Given the description of an element on the screen output the (x, y) to click on. 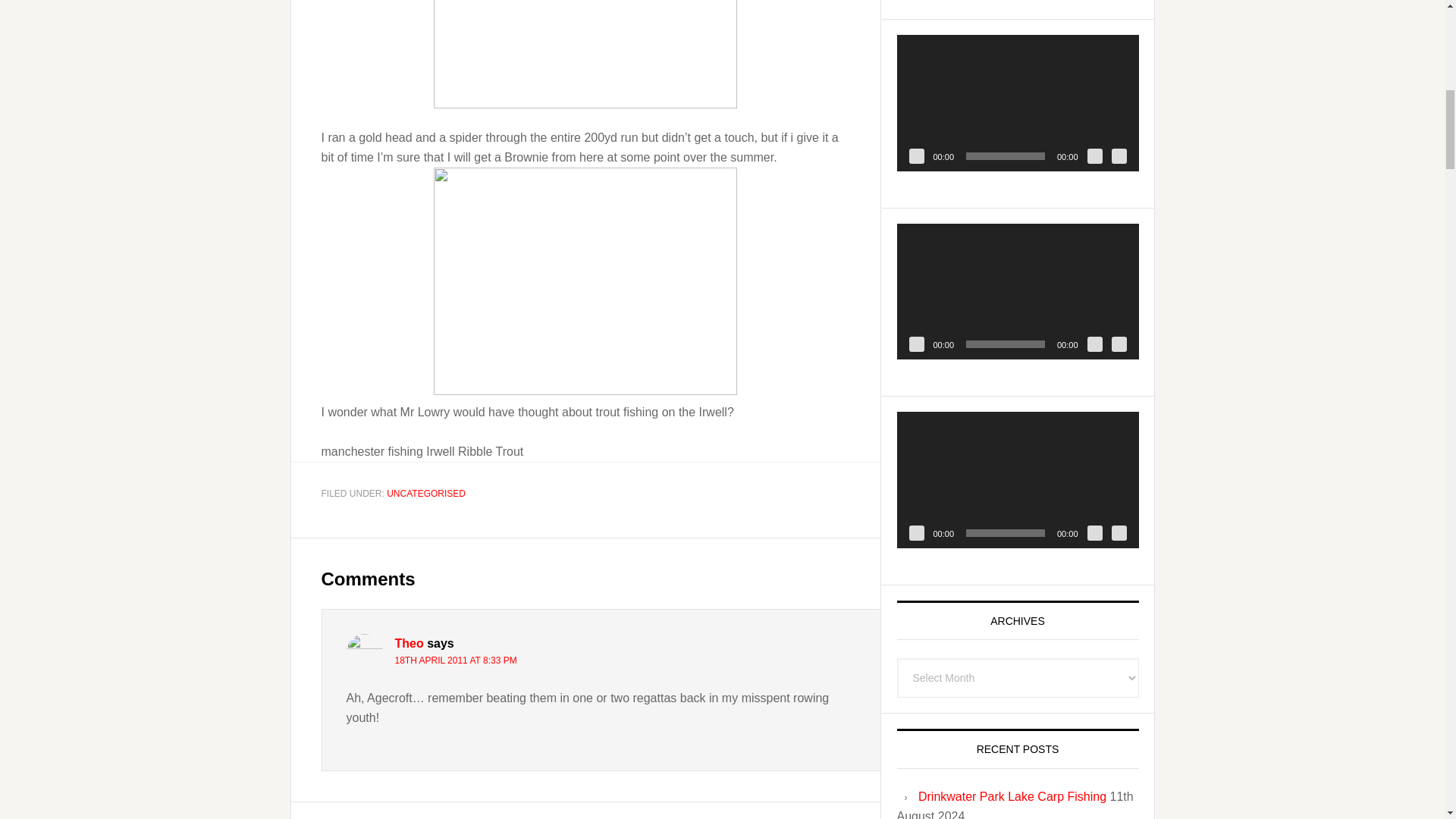
18TH APRIL 2011 AT 8:33 PM (455, 660)
Mute (1094, 344)
UNCATEGORISED (426, 493)
Fullscreen (1119, 155)
Theo (408, 643)
Play (915, 344)
Mute (1094, 155)
Play (915, 155)
